Given the description of an element on the screen output the (x, y) to click on. 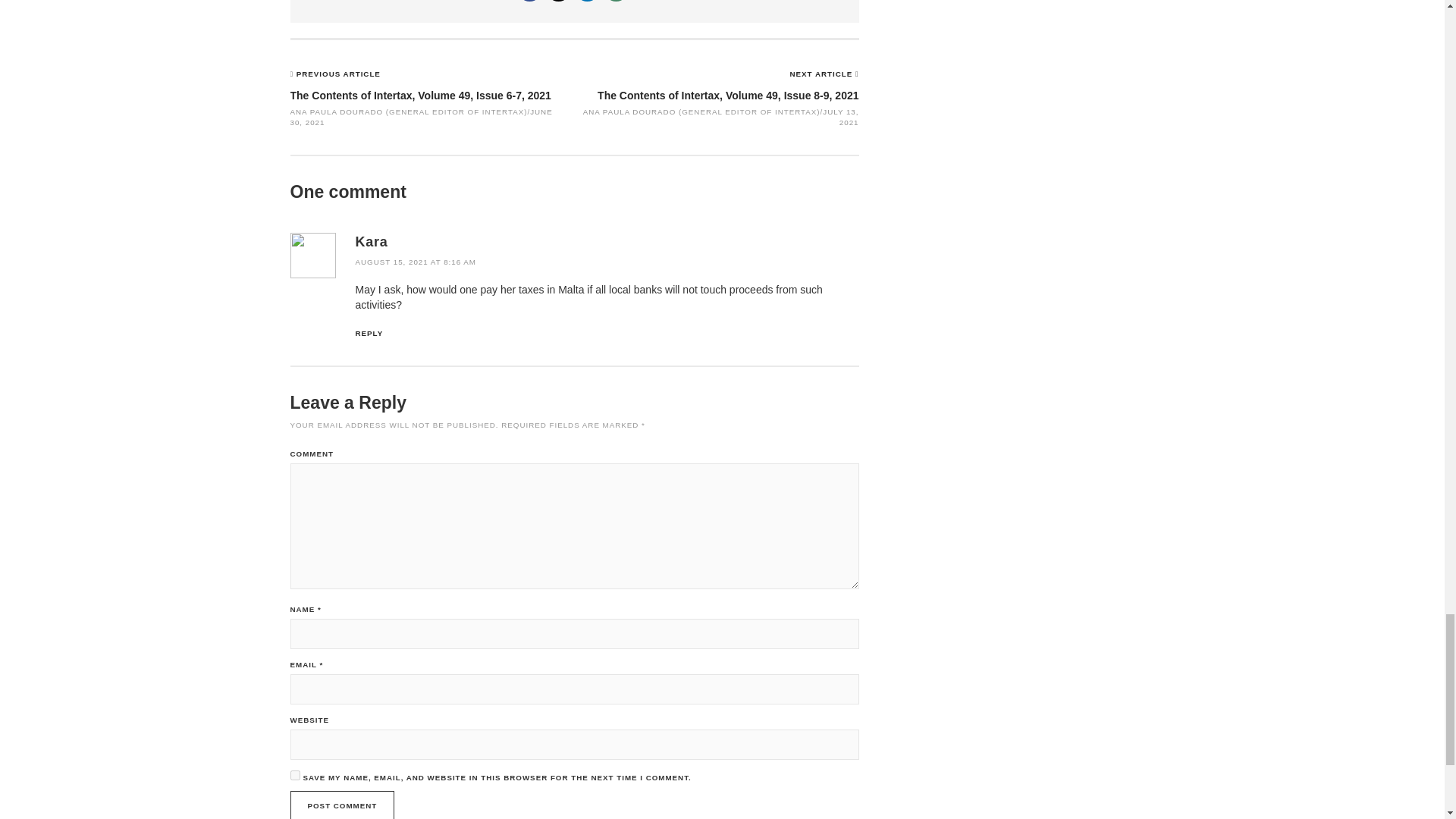
JULY 13, 2021 (840, 116)
Post Comment (341, 805)
yes (294, 775)
The Contents of Intertax, Volume 49, Issue 8-9, 2021 (727, 95)
JUNE 30, 2021 (420, 116)
NEXT ARTICLE (823, 73)
REPLY (368, 333)
ANA PAULA DOURADO (630, 111)
AUGUST 15, 2021 AT 8:16 AM (415, 261)
PREVIOUS ARTICLE (338, 73)
